Given the description of an element on the screen output the (x, y) to click on. 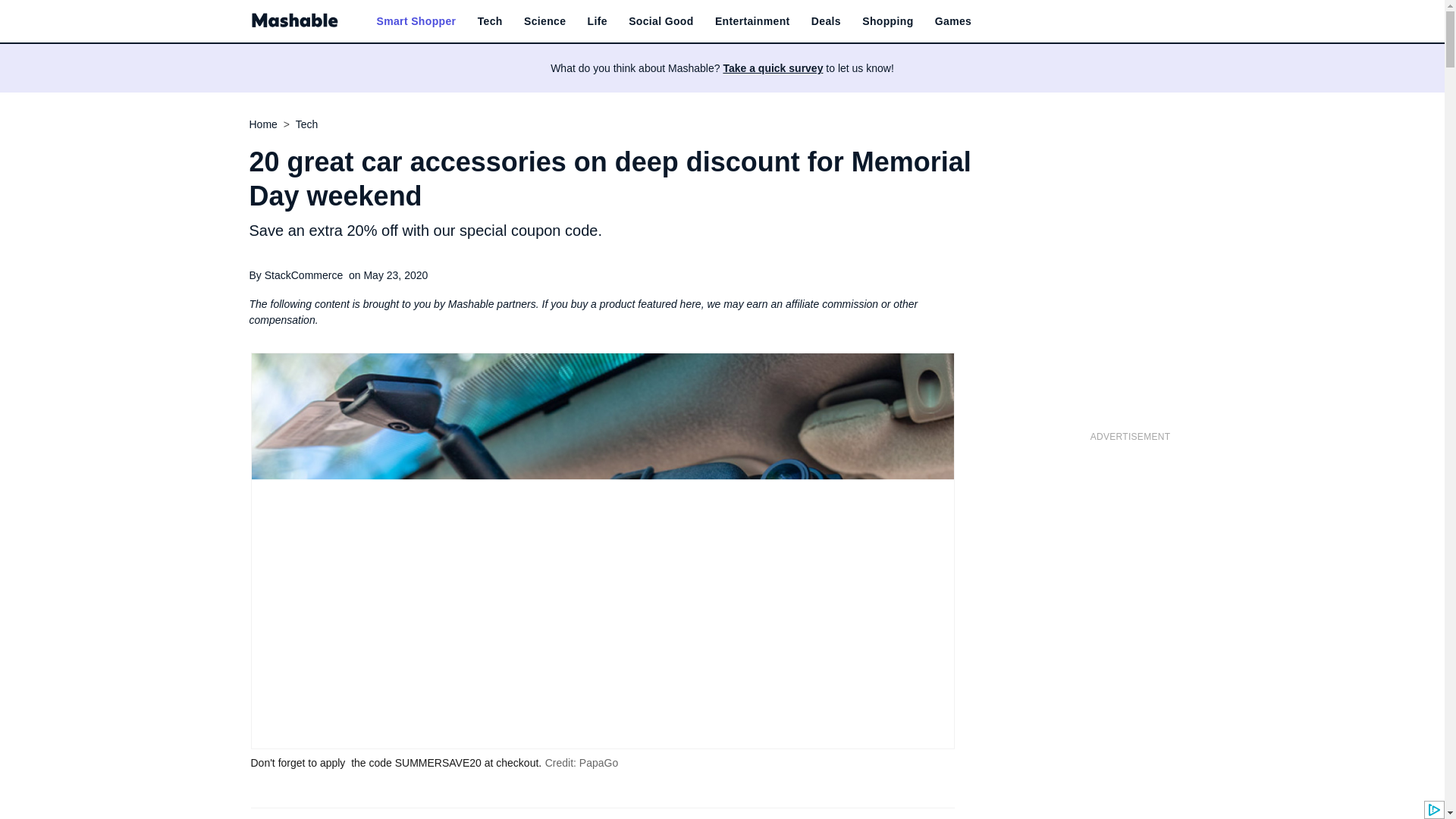
Social Good (661, 21)
Entertainment (752, 21)
Life (597, 21)
Games (952, 21)
Shopping (886, 21)
Tech (489, 21)
Deals (825, 21)
Science (545, 21)
Smart Shopper (415, 21)
